Given the description of an element on the screen output the (x, y) to click on. 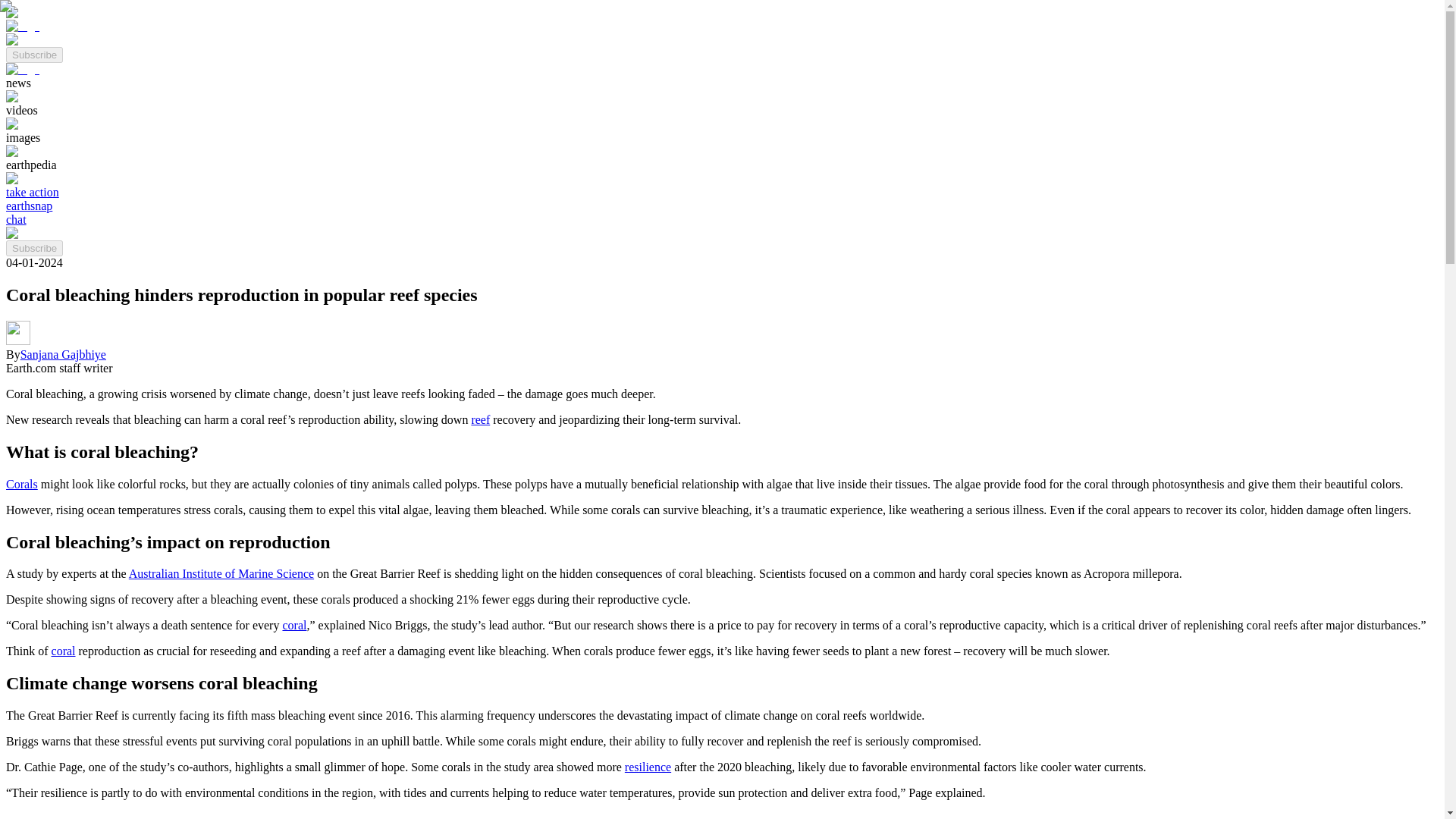
Subscribe (33, 54)
Subscribe (33, 248)
earthsnap (28, 205)
Subscribe (33, 53)
coral (293, 625)
resilience (647, 766)
Corals (21, 483)
Australian Institute of Marine Science (221, 573)
coral (62, 650)
Subscribe (33, 246)
Sanjana Gajbhiye (63, 354)
chat (15, 219)
reef (479, 419)
take action (32, 192)
